Given the description of an element on the screen output the (x, y) to click on. 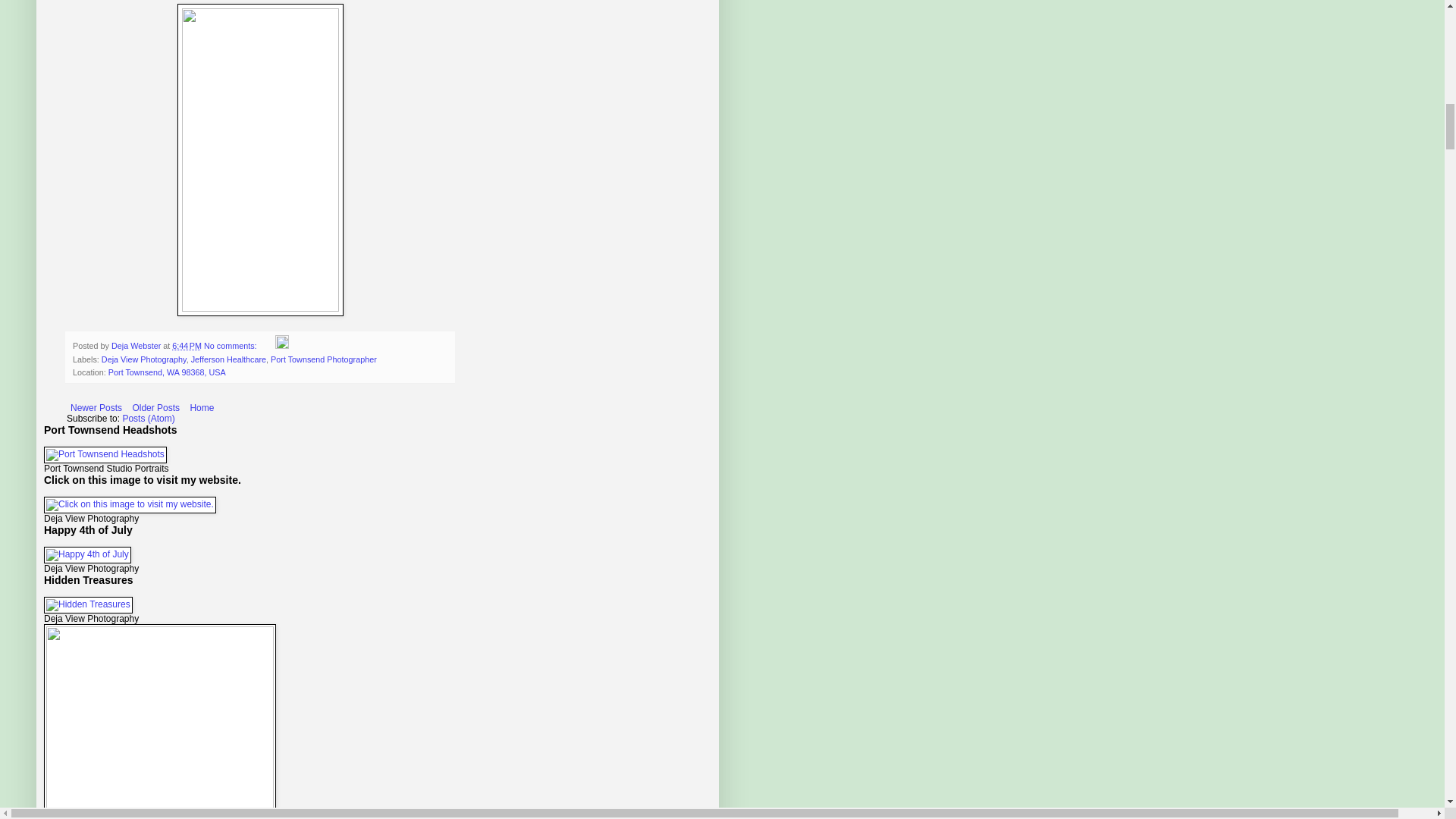
Port Townsend, WA 98368, USA (166, 371)
Older Posts (155, 407)
Home (201, 407)
Port Townsend Photographer (323, 358)
permanent link (186, 345)
Newer Posts (95, 407)
Email Post (267, 345)
Jefferson Healthcare (228, 358)
Edit Post (281, 345)
No comments: (231, 345)
